Given the description of an element on the screen output the (x, y) to click on. 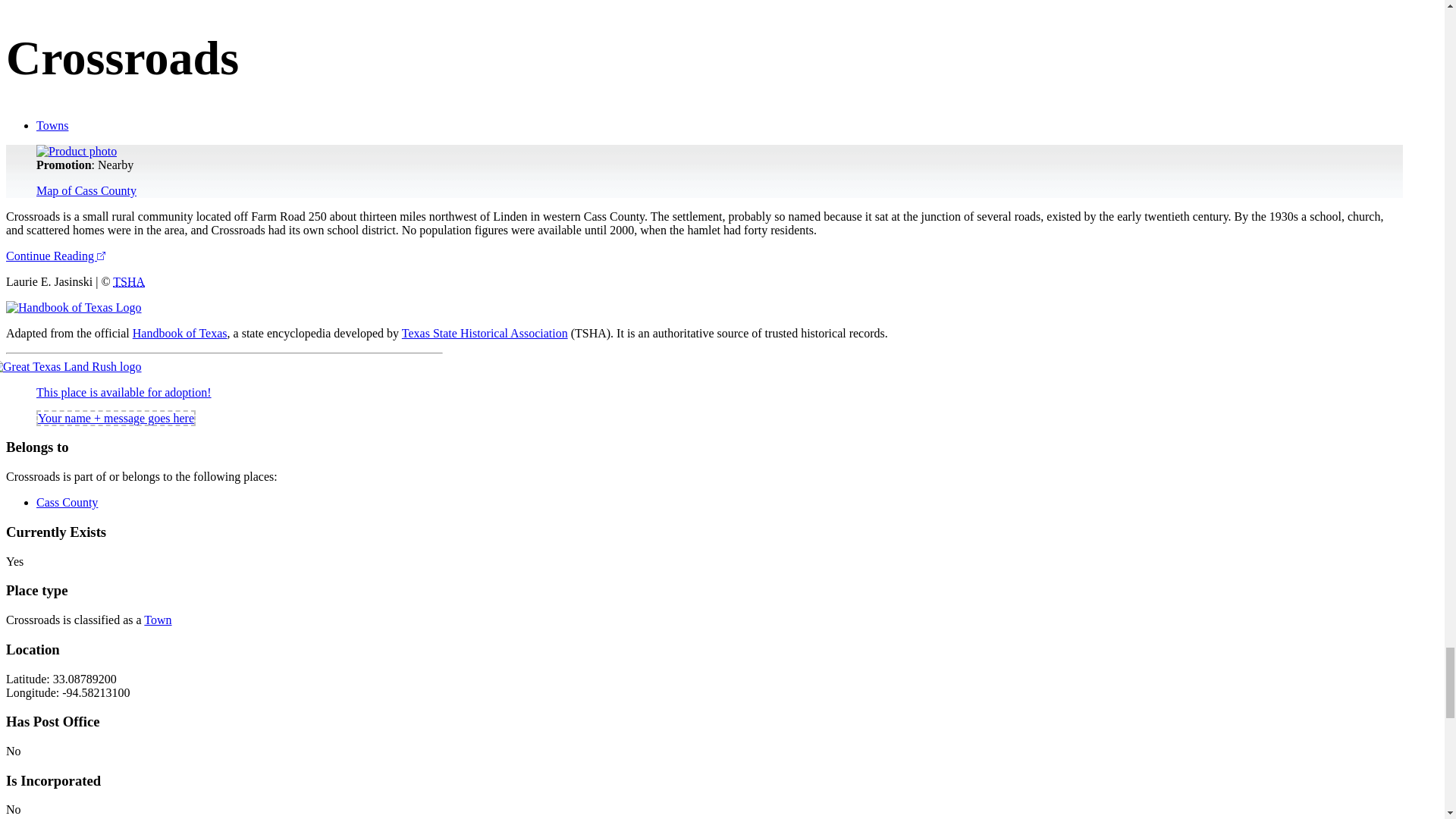
Handbook of Texas (179, 332)
Cass County (66, 502)
Texas State Historical Association (128, 281)
Map of Cass County (86, 190)
Texas State Historical Association (484, 332)
Continue Reading (54, 255)
Towns (52, 124)
This place is available for adoption! (123, 391)
TSHA (128, 281)
Town (157, 619)
